Given the description of an element on the screen output the (x, y) to click on. 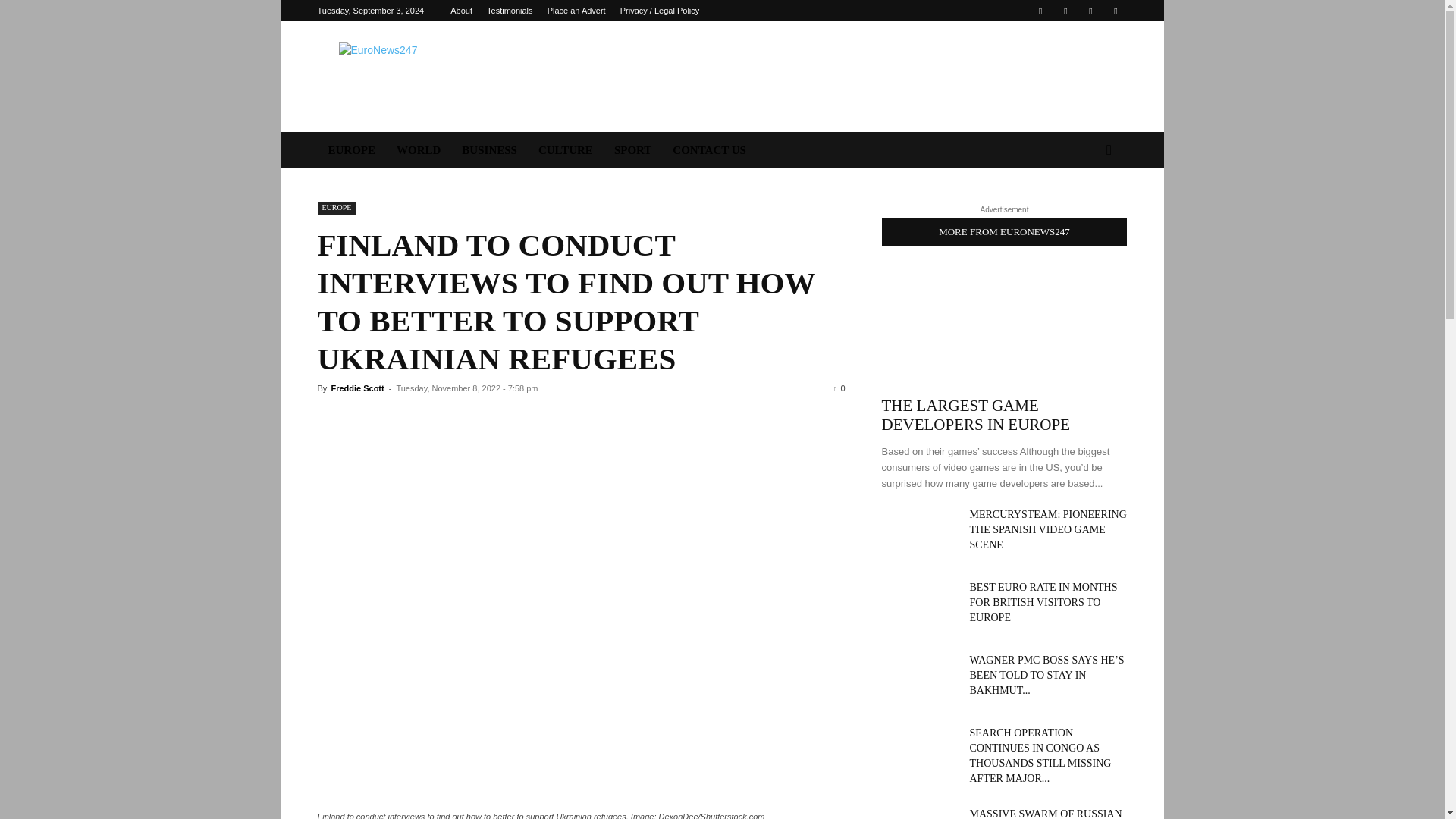
Mail (1065, 10)
EuroNews247 (445, 76)
WORLD (418, 149)
EUROPE (336, 207)
About (460, 10)
RSS (1090, 10)
Search (1085, 210)
CULTURE (565, 149)
BUSINESS (489, 149)
Twitter (1114, 10)
